Given the description of an element on the screen output the (x, y) to click on. 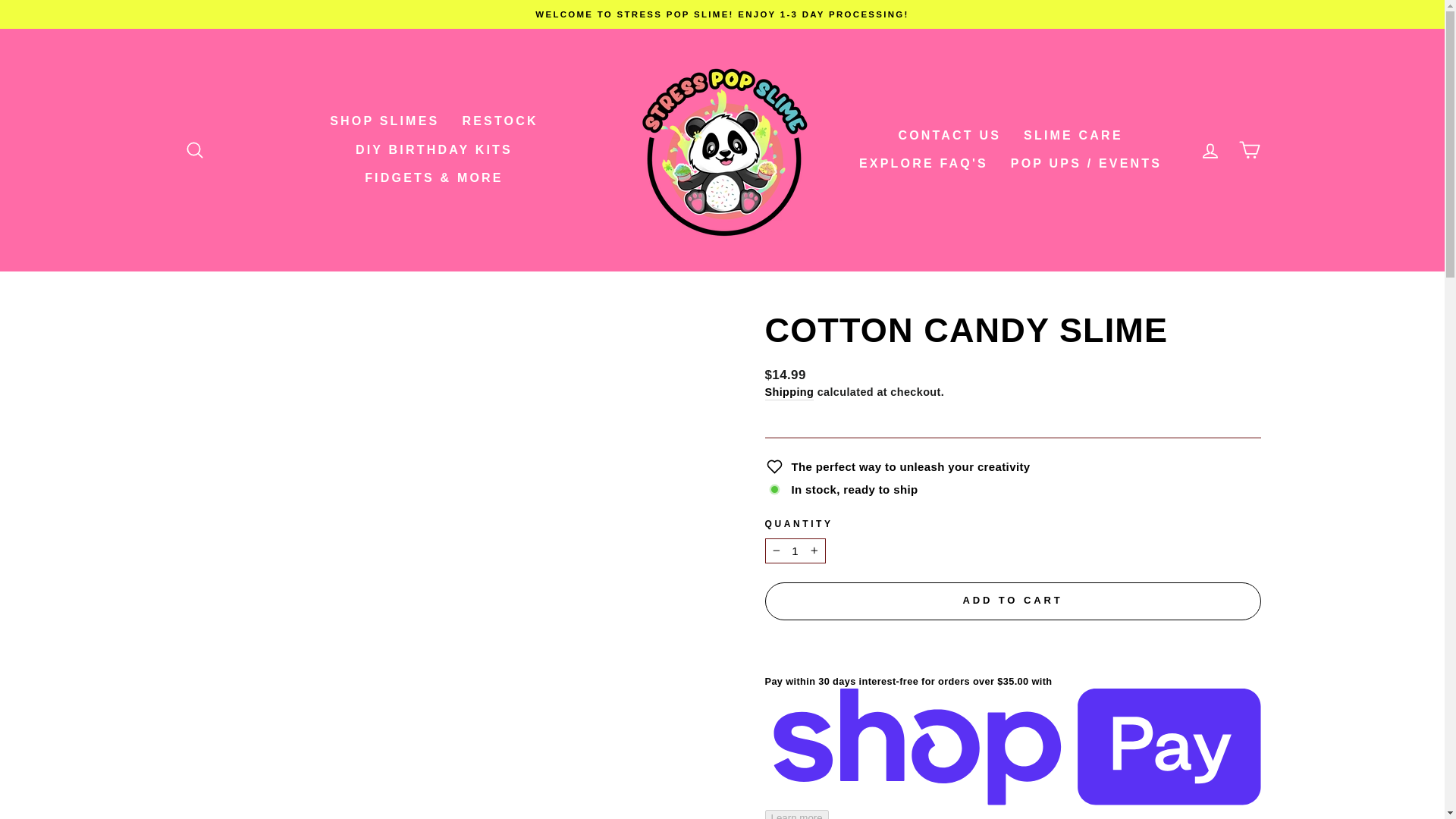
CONTACT US (948, 135)
CART (1249, 149)
1 (794, 550)
SEARCH (194, 149)
SHOP SLIMES (383, 121)
LOG IN (1210, 149)
EXPLORE FAQ'S (922, 163)
SLIME CARE (1072, 135)
RESTOCK (498, 121)
DIY BIRTHDAY KITS (433, 149)
